Given the description of an element on the screen output the (x, y) to click on. 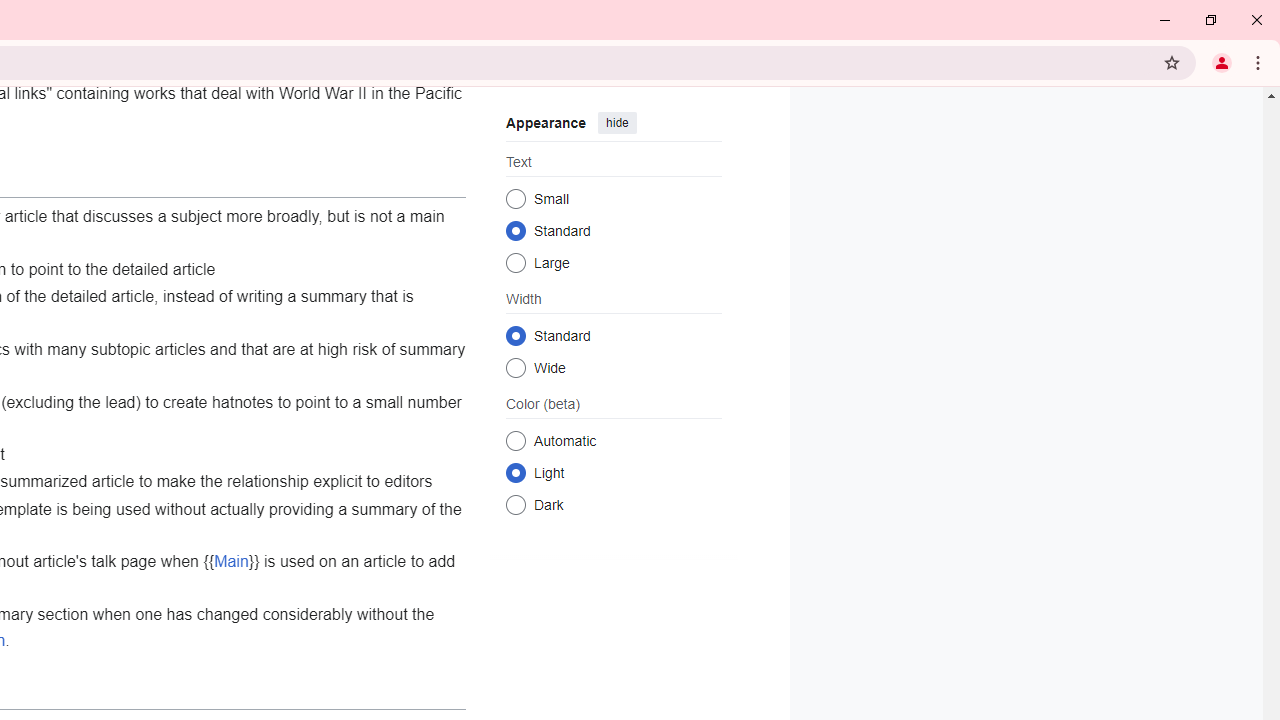
Automatic (515, 439)
Large (515, 261)
Light (515, 472)
Small (515, 197)
hide (616, 122)
Wide (515, 367)
Main (231, 561)
Standard (515, 335)
